Given the description of an element on the screen output the (x, y) to click on. 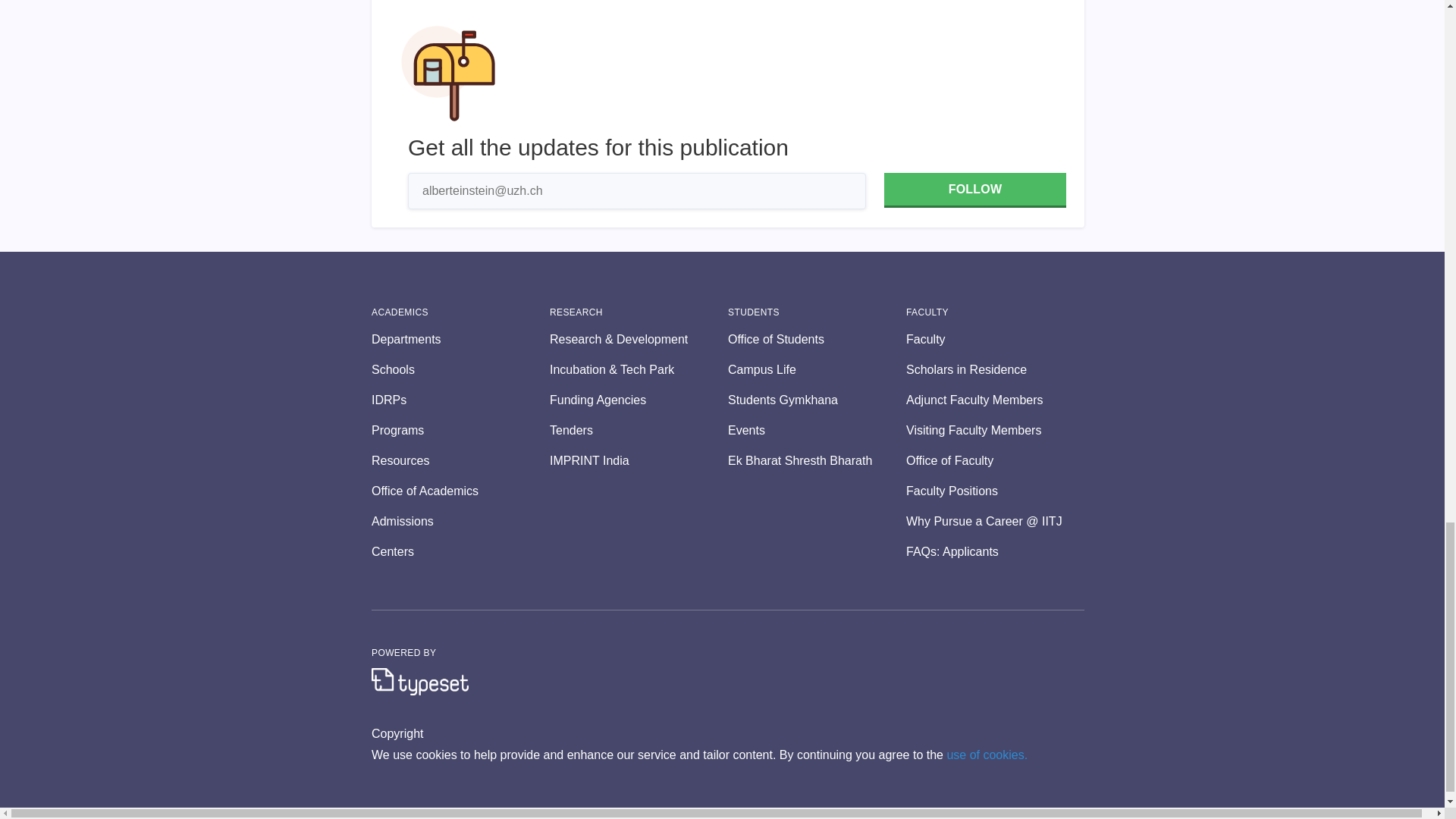
Office of Academics (460, 491)
Students Gymkhana (816, 400)
Funding Agencies (639, 400)
Centers (460, 551)
Schools (460, 370)
Office of Students (816, 339)
IDRPs (460, 400)
Admissions (460, 521)
Departments (460, 339)
Logo of Typeset (419, 681)
FOLLOW (974, 190)
Tenders (639, 430)
IMPRINT India (639, 461)
Resources (460, 461)
Programs (460, 430)
